Given the description of an element on the screen output the (x, y) to click on. 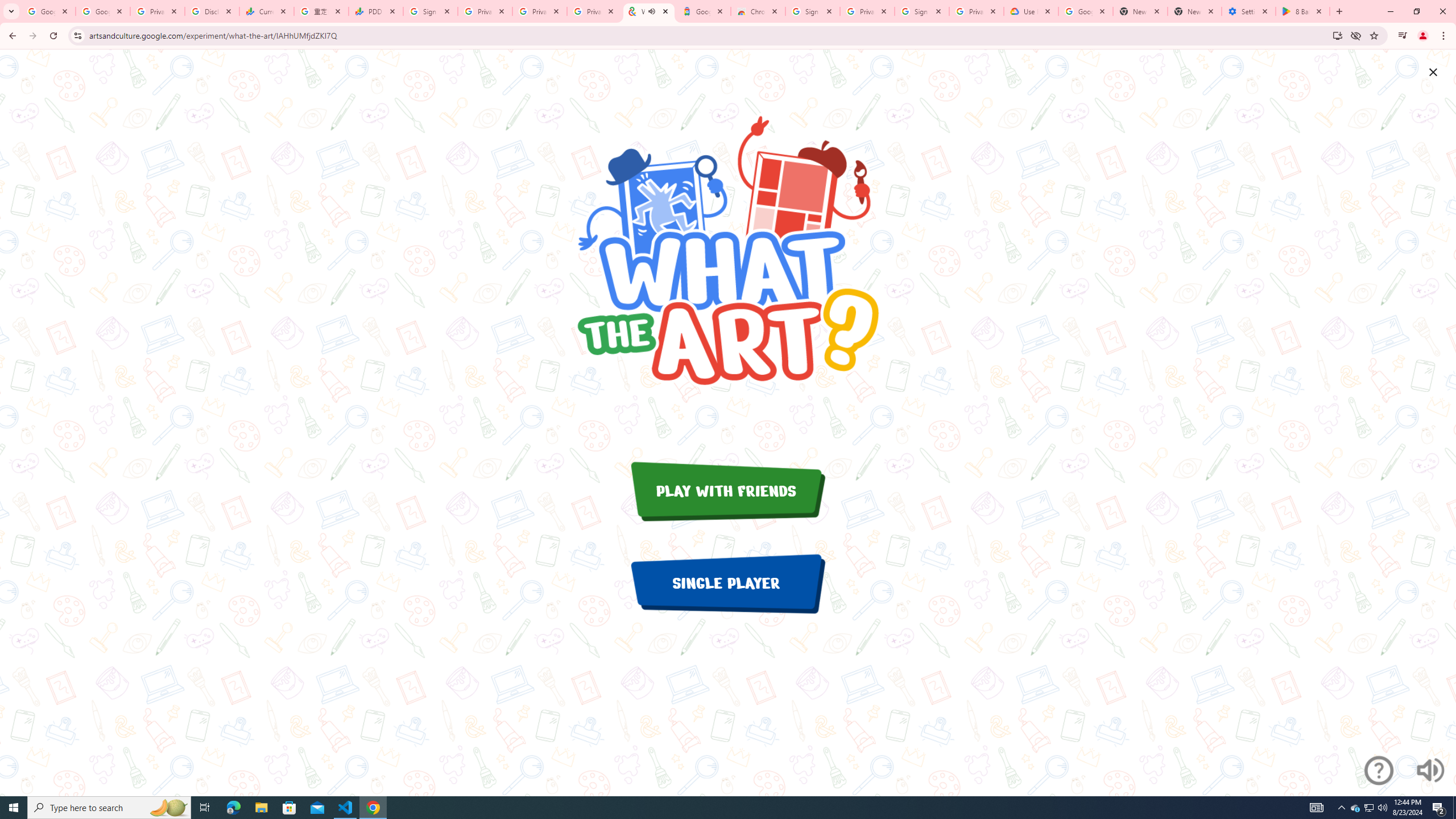
Quit Game (1433, 71)
8 Ball Pool - Apps on Google Play (1303, 11)
Settings - System (1249, 11)
Sign in - Google Accounts (430, 11)
Sign in - Google Accounts (921, 11)
Google (703, 11)
